Given the description of an element on the screen output the (x, y) to click on. 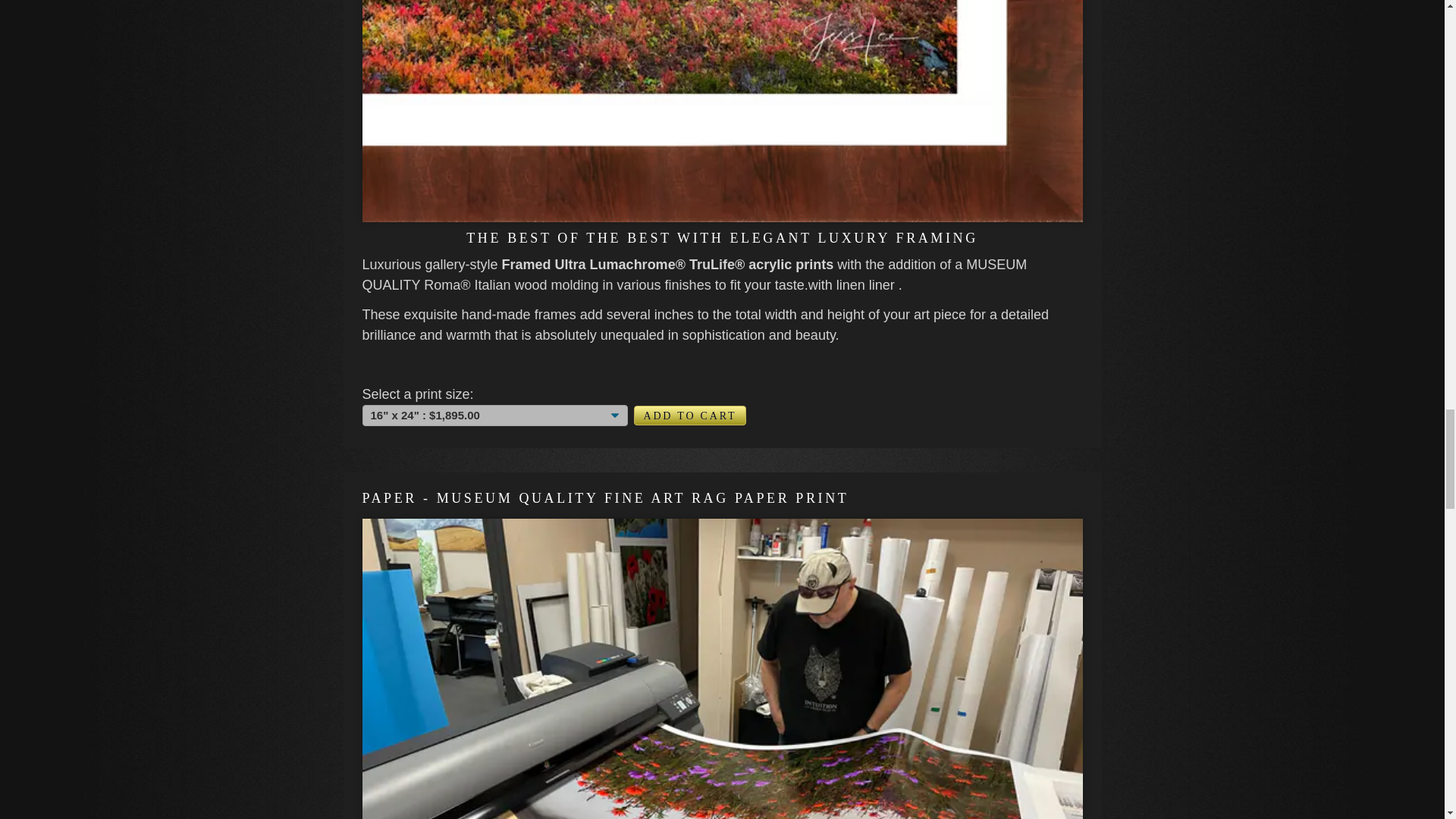
ADD TO CART (689, 415)
